Given the description of an element on the screen output the (x, y) to click on. 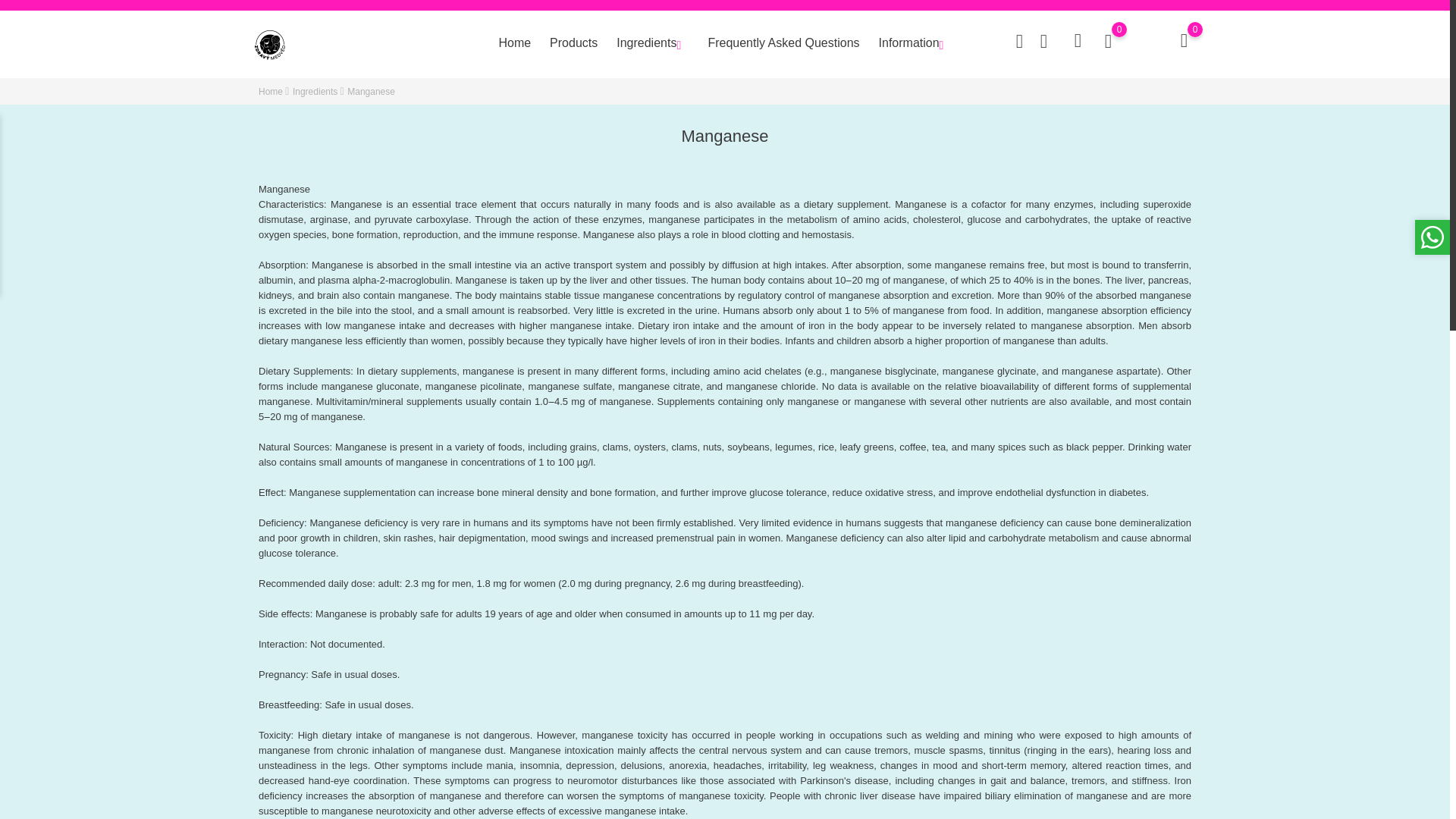
Products (573, 43)
